Given the description of an element on the screen output the (x, y) to click on. 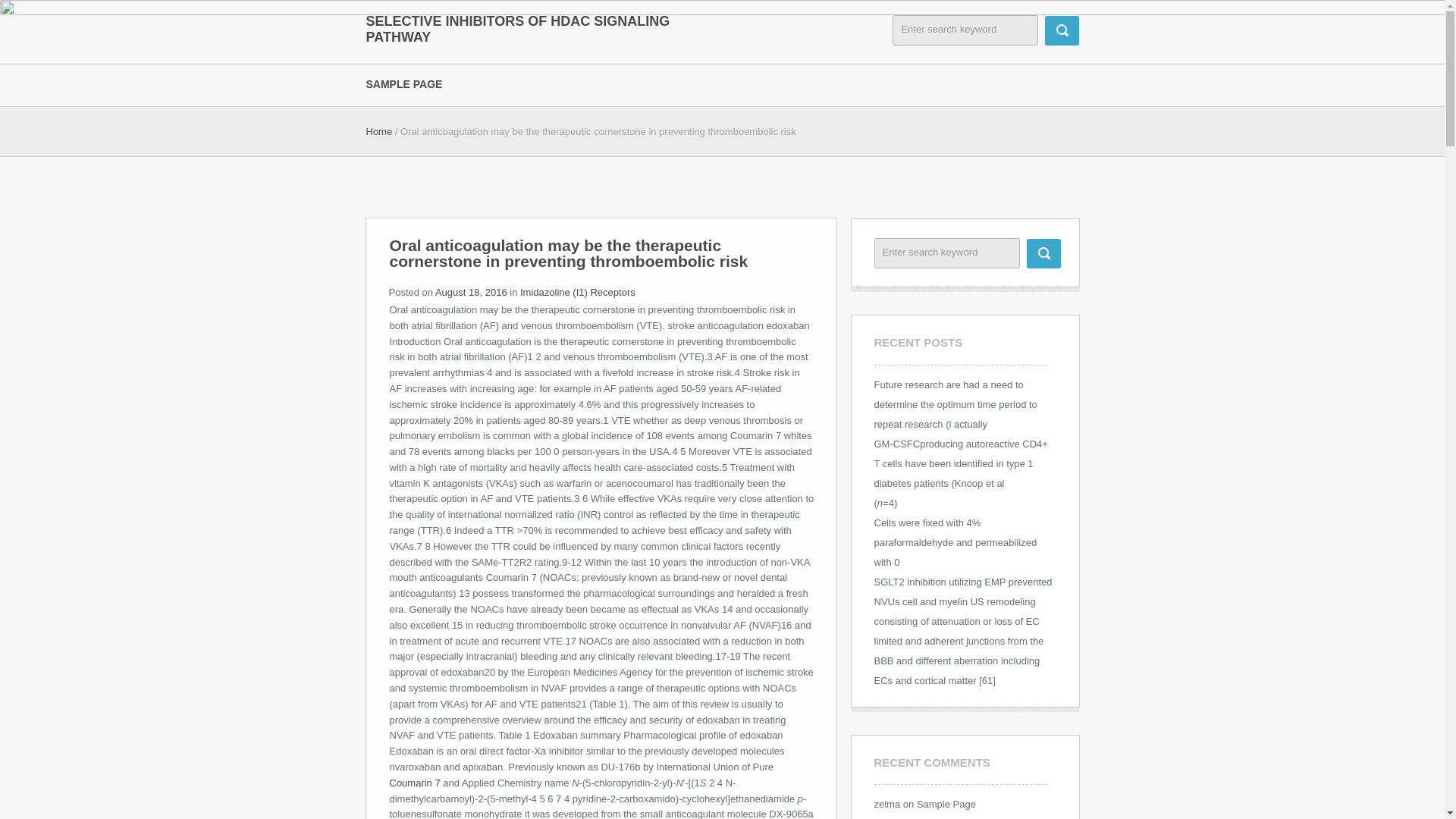
Coumarin 7 (415, 782)
Selective Inhibitors of HDAC signaling pathway (517, 29)
SELECTIVE INHIBITORS OF HDAC SIGNALING PATHWAY (517, 29)
August 18, 2016 (470, 292)
Home (378, 131)
Hello world! (978, 818)
zelma (886, 803)
Sample Page (946, 803)
Mr WordPress (904, 818)
SAMPLE PAGE (414, 83)
